Given the description of an element on the screen output the (x, y) to click on. 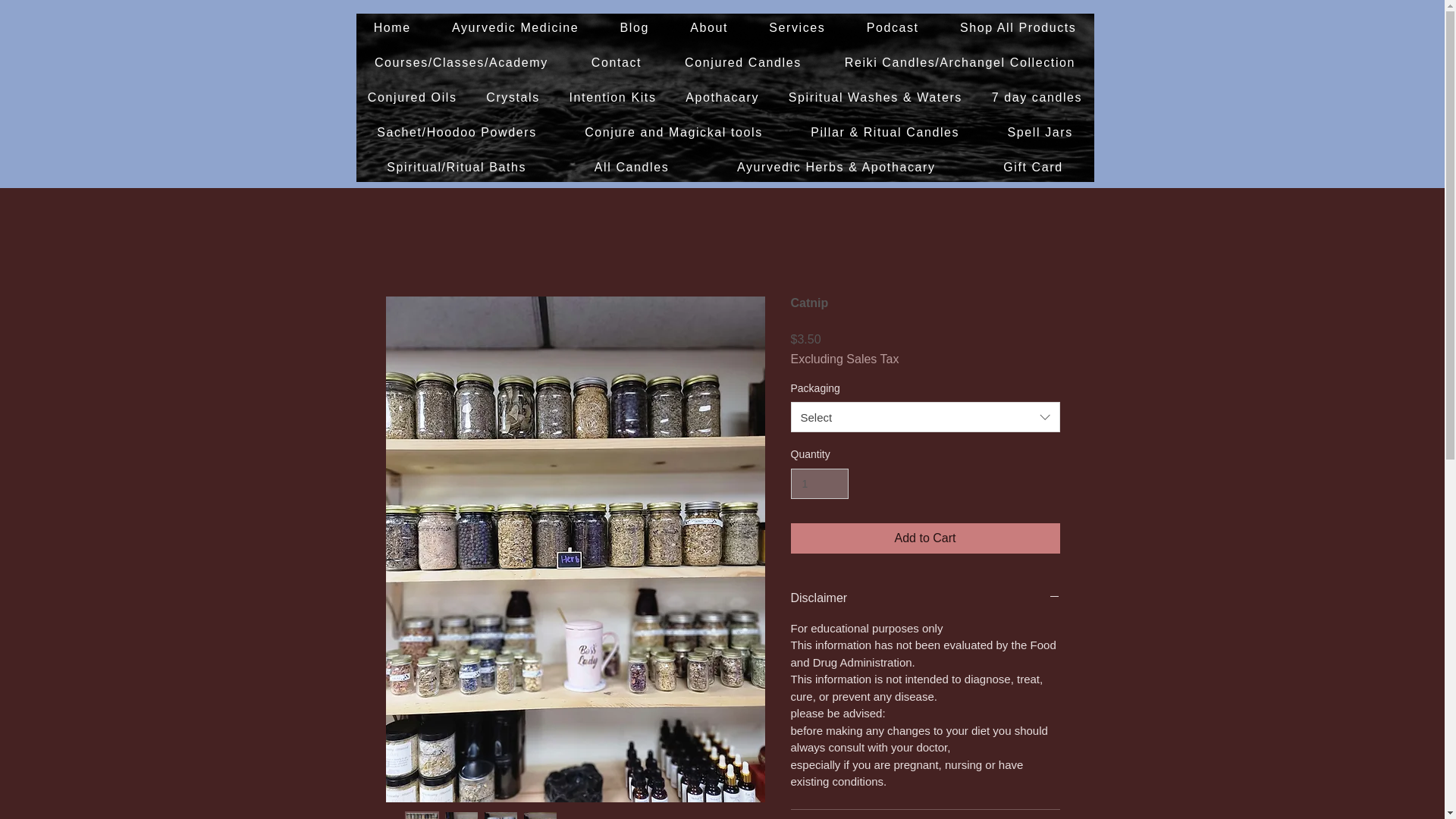
Disclaimer (924, 597)
About (708, 27)
Spell Jars (1040, 132)
Services (797, 27)
Apothacary (722, 97)
Podcast (892, 27)
Conjured Oils (412, 97)
Add to Cart (924, 538)
Conjure and Magickal tools (674, 132)
Blog (634, 27)
